Given the description of an element on the screen output the (x, y) to click on. 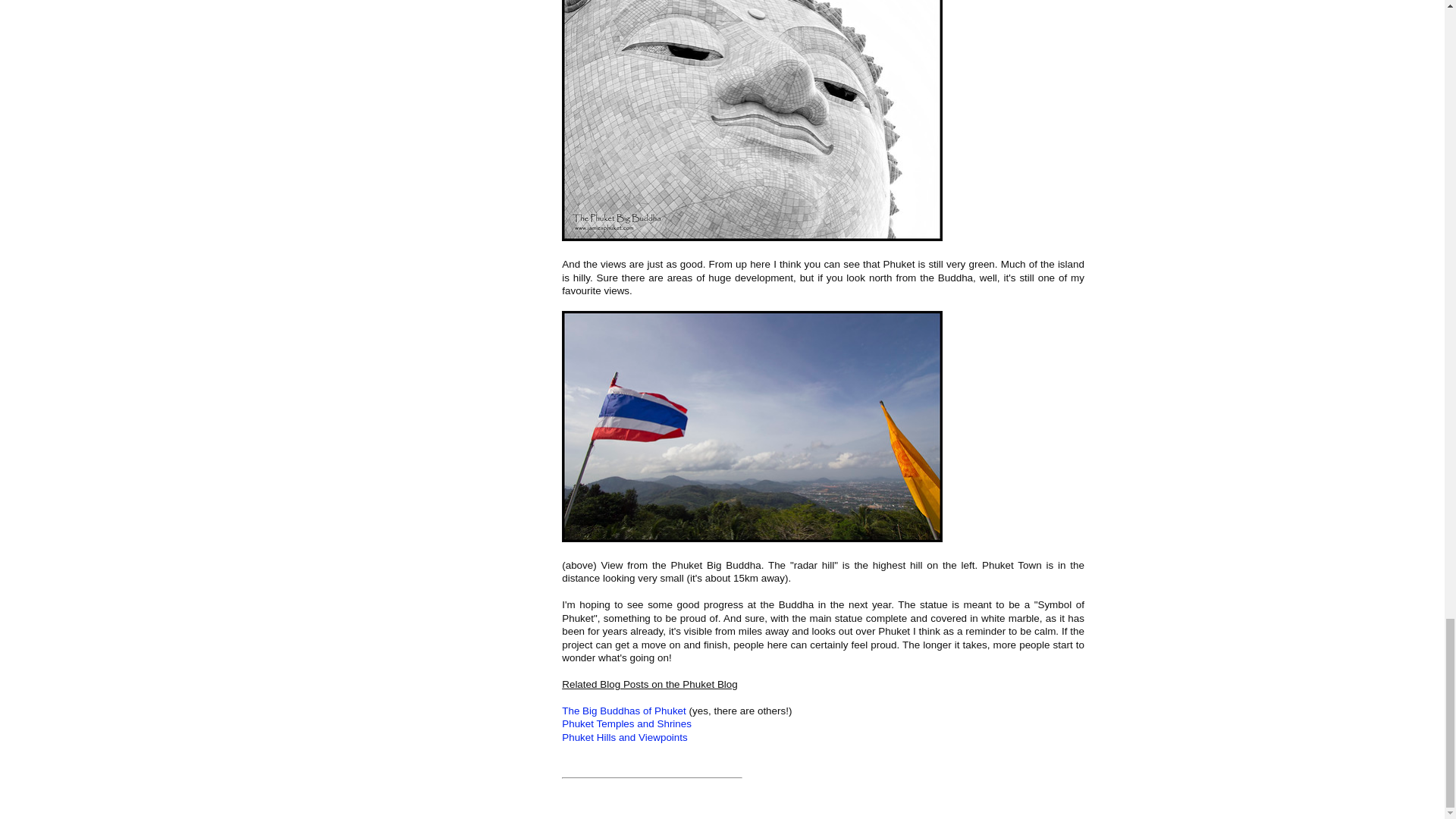
The Big Buddhas of Phuket (623, 710)
Phuket Hills and Viewpoints (624, 737)
Phuket Temples and Shrines (626, 723)
